Given the description of an element on the screen output the (x, y) to click on. 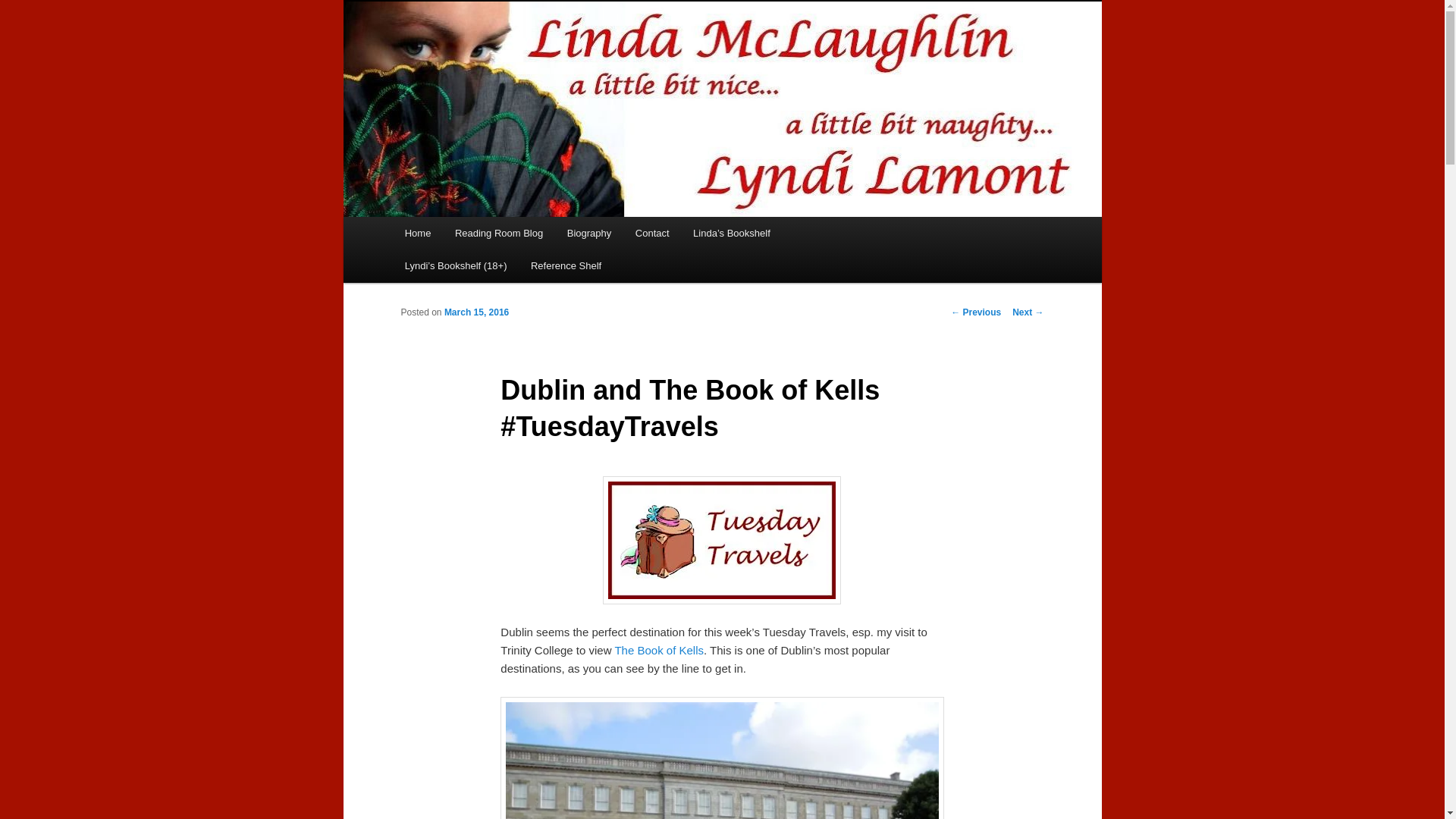
The Book of Kells (658, 649)
Home (417, 233)
Reading Room Blog (498, 233)
9:52 AM (476, 312)
Biography (588, 233)
Contact (652, 233)
Reference Shelf (565, 265)
March 15, 2016 (476, 312)
